Given the description of an element on the screen output the (x, y) to click on. 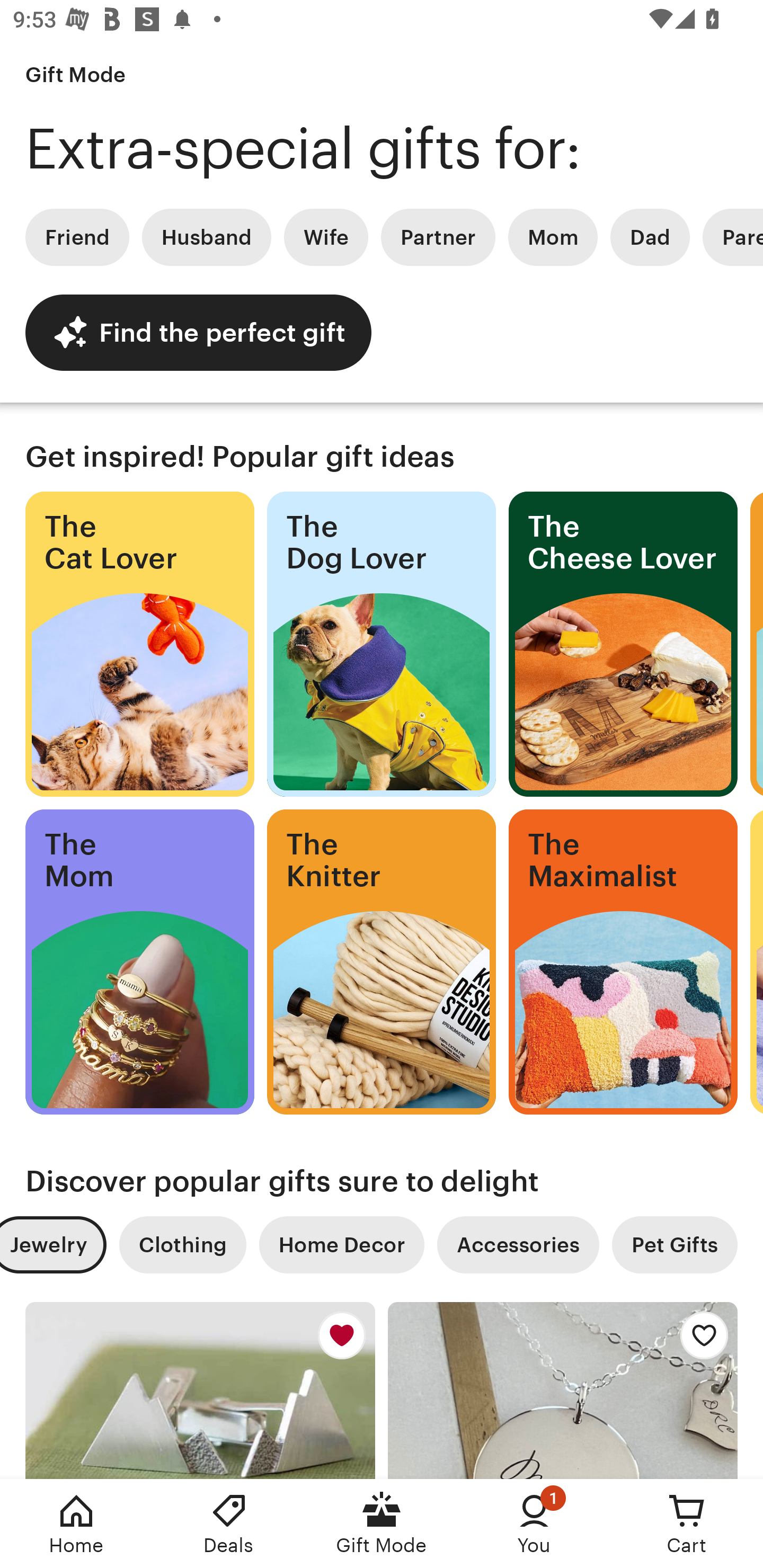
Friend (76, 237)
Husband (206, 237)
Wife (325, 237)
Partner (437, 237)
Mom (552, 237)
Dad (649, 237)
Find the perfect gift (198, 332)
The Cat Lover (139, 644)
The Dog Lover (381, 644)
The Cheese Lover (622, 644)
The Mom (139, 961)
The Knitter (381, 961)
The Maximalist (622, 961)
Jewelry (53, 1244)
Clothing (182, 1244)
Home Decor (341, 1244)
Accessories (517, 1244)
Pet Gifts (674, 1244)
Home (76, 1523)
Deals (228, 1523)
You, 1 new notification You (533, 1523)
Cart (686, 1523)
